Given the description of an element on the screen output the (x, y) to click on. 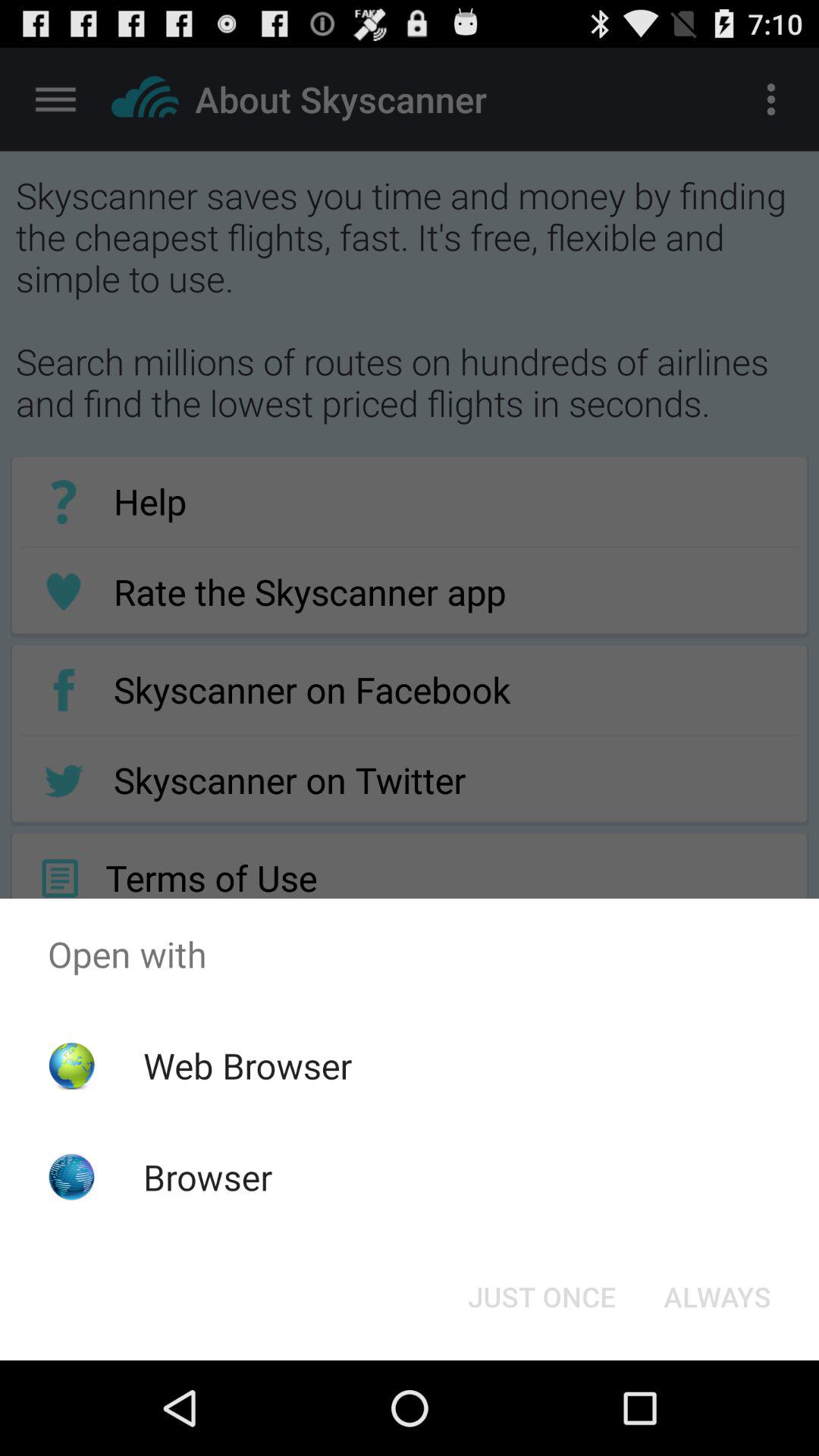
scroll to the web browser (247, 1065)
